Given the description of an element on the screen output the (x, y) to click on. 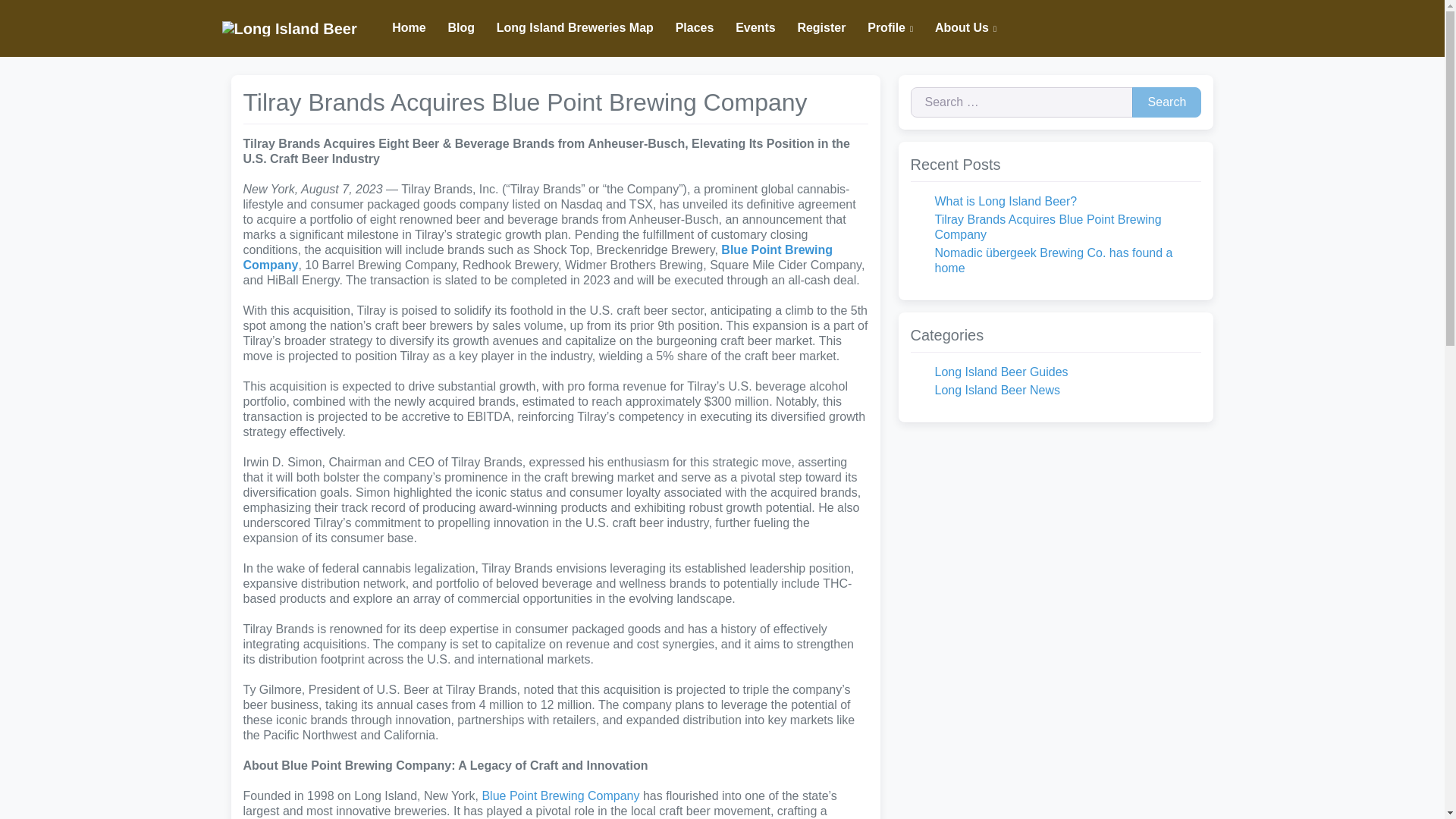
Profile (890, 28)
Blog (460, 28)
What is Long Island Beer? (1005, 201)
Search (1166, 101)
Blue Point Brewing Company (537, 257)
Events (755, 28)
Register (821, 28)
Places (694, 28)
Long Island Beer Guides (1000, 371)
Long Island Beer News (996, 390)
